Given the description of an element on the screen output the (x, y) to click on. 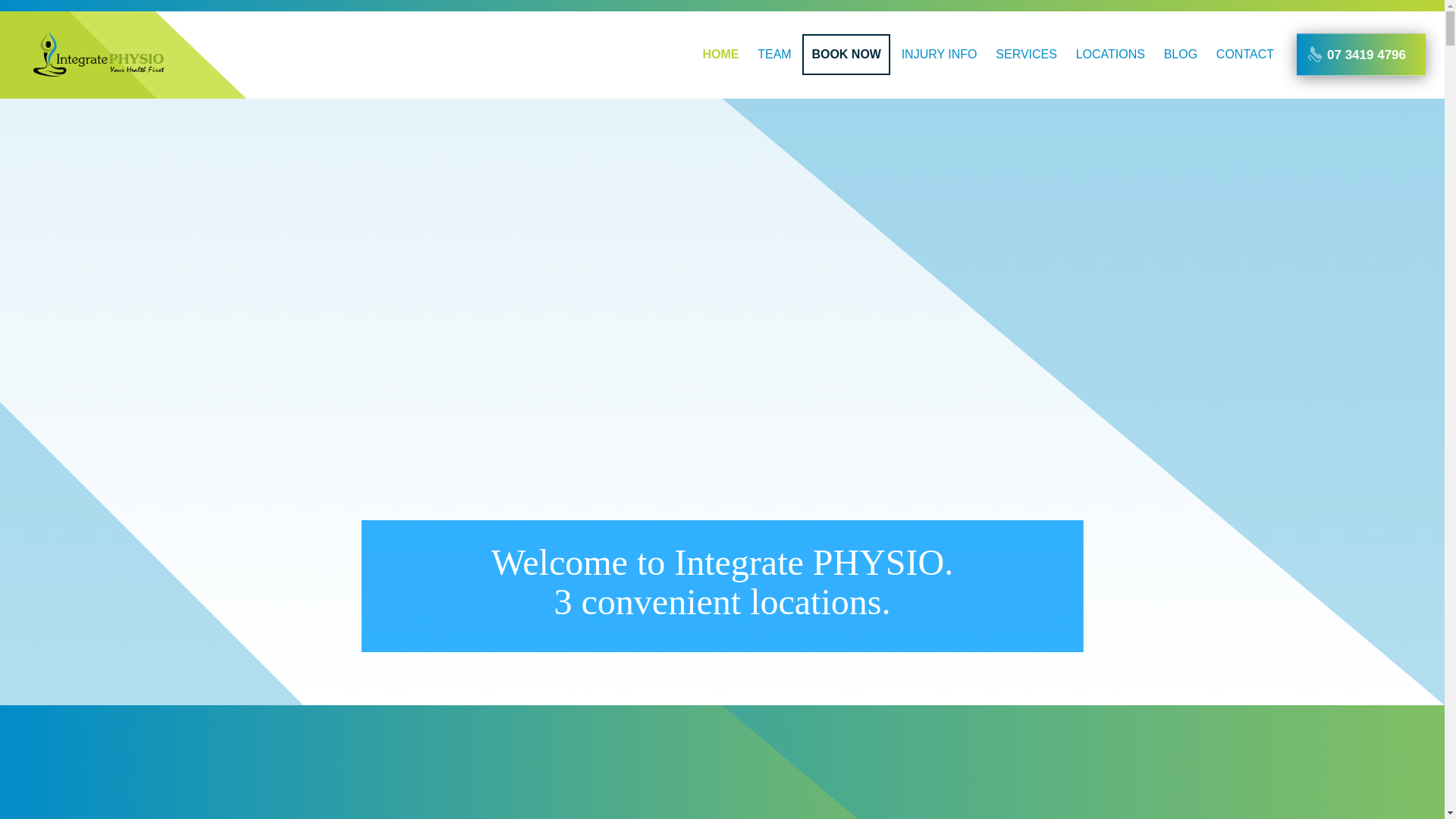
CONTACT Element type: text (1244, 53)
TEAM Element type: text (773, 53)
BLOG Element type: text (1180, 53)
HOME Element type: text (720, 53)
LOCATIONS Element type: text (1110, 53)
07 3419 4796 Element type: text (1360, 54)
BOOK NOW Element type: text (846, 53)
SERVICES Element type: text (1026, 53)
INJURY INFO Element type: text (939, 53)
